Given the description of an element on the screen output the (x, y) to click on. 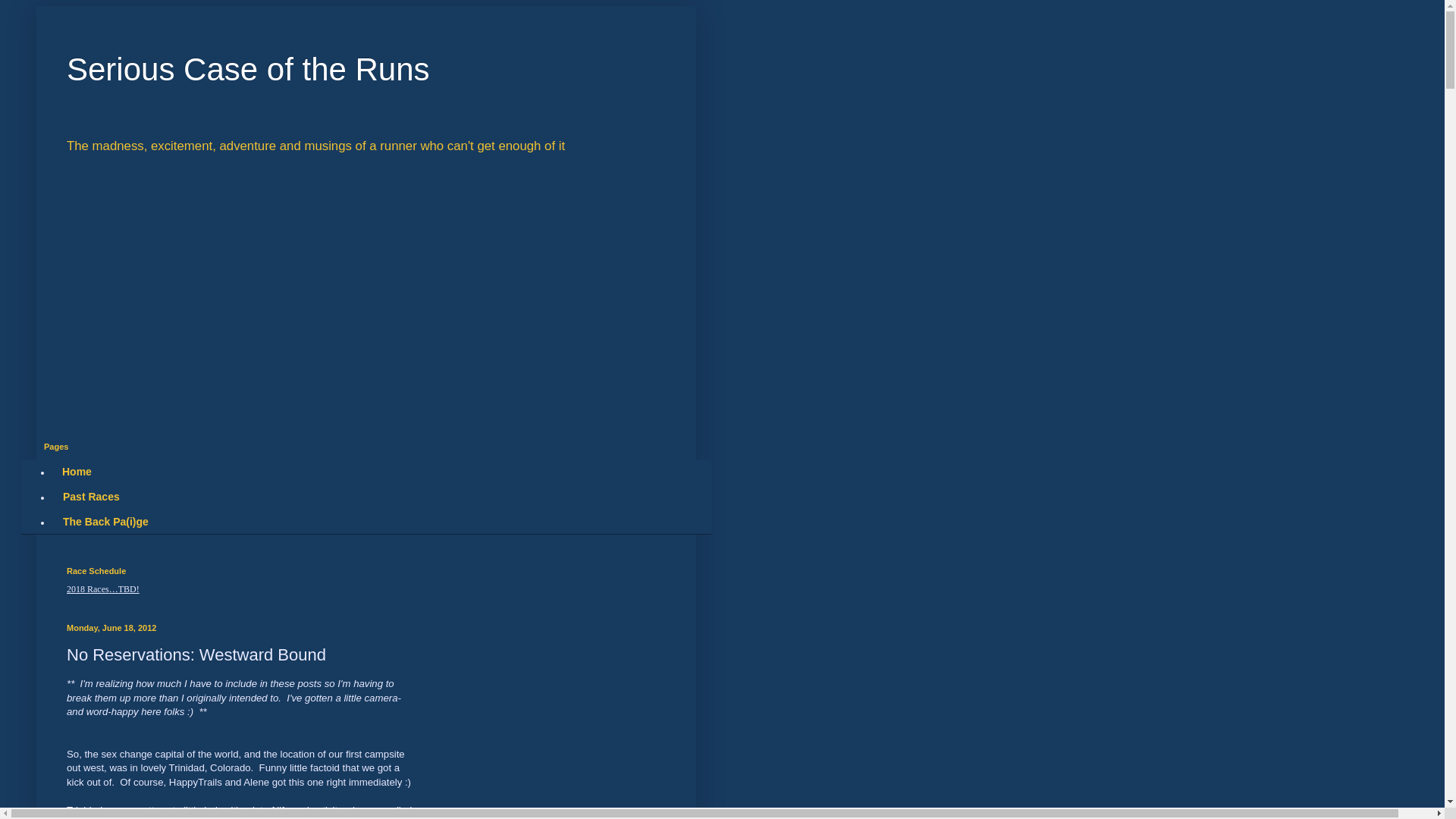
Serious Case of the Runs (247, 68)
Past Races (90, 496)
Home (75, 471)
